Given the description of an element on the screen output the (x, y) to click on. 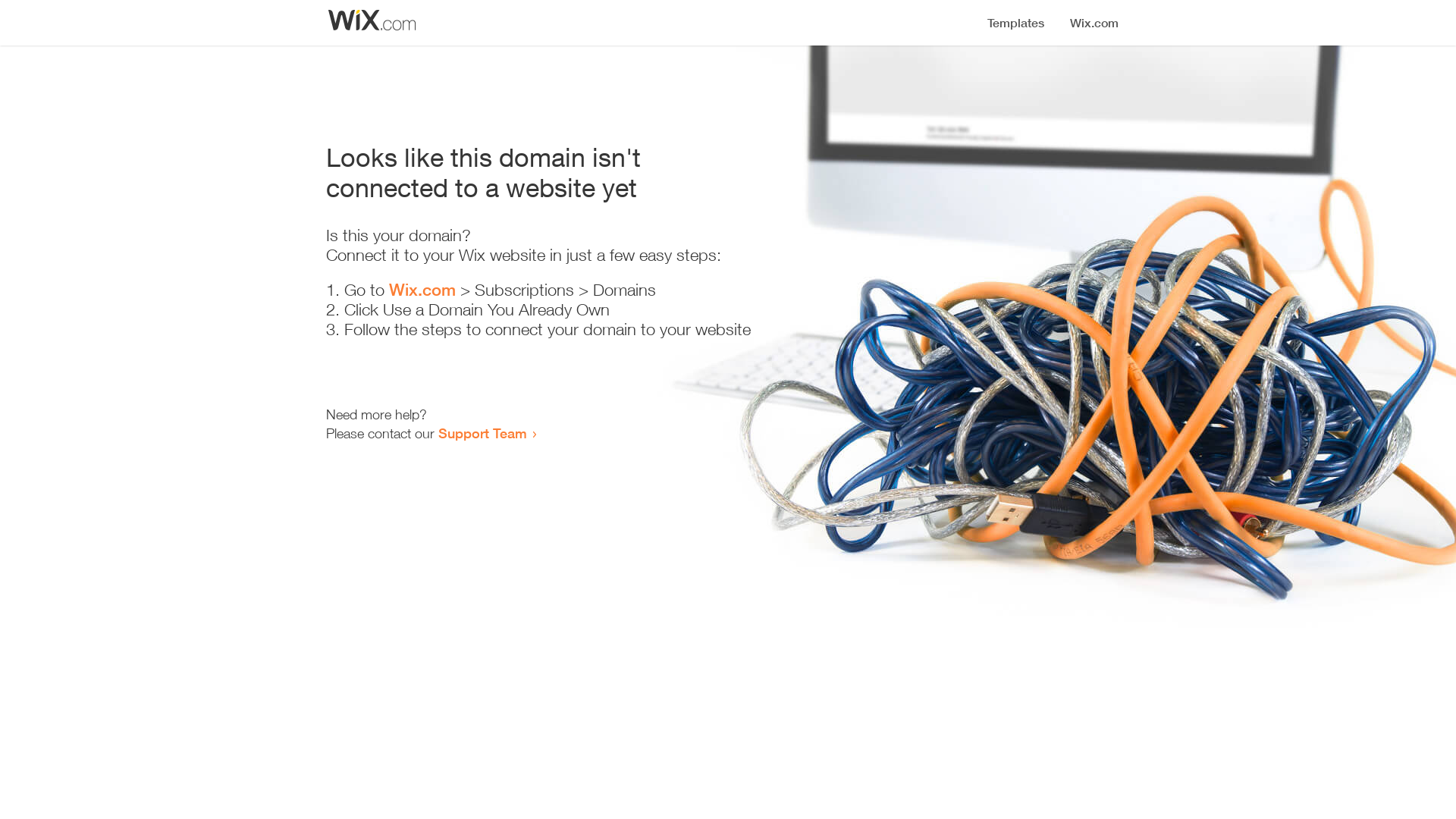
Support Team Element type: text (482, 432)
Wix.com Element type: text (422, 289)
